Given the description of an element on the screen output the (x, y) to click on. 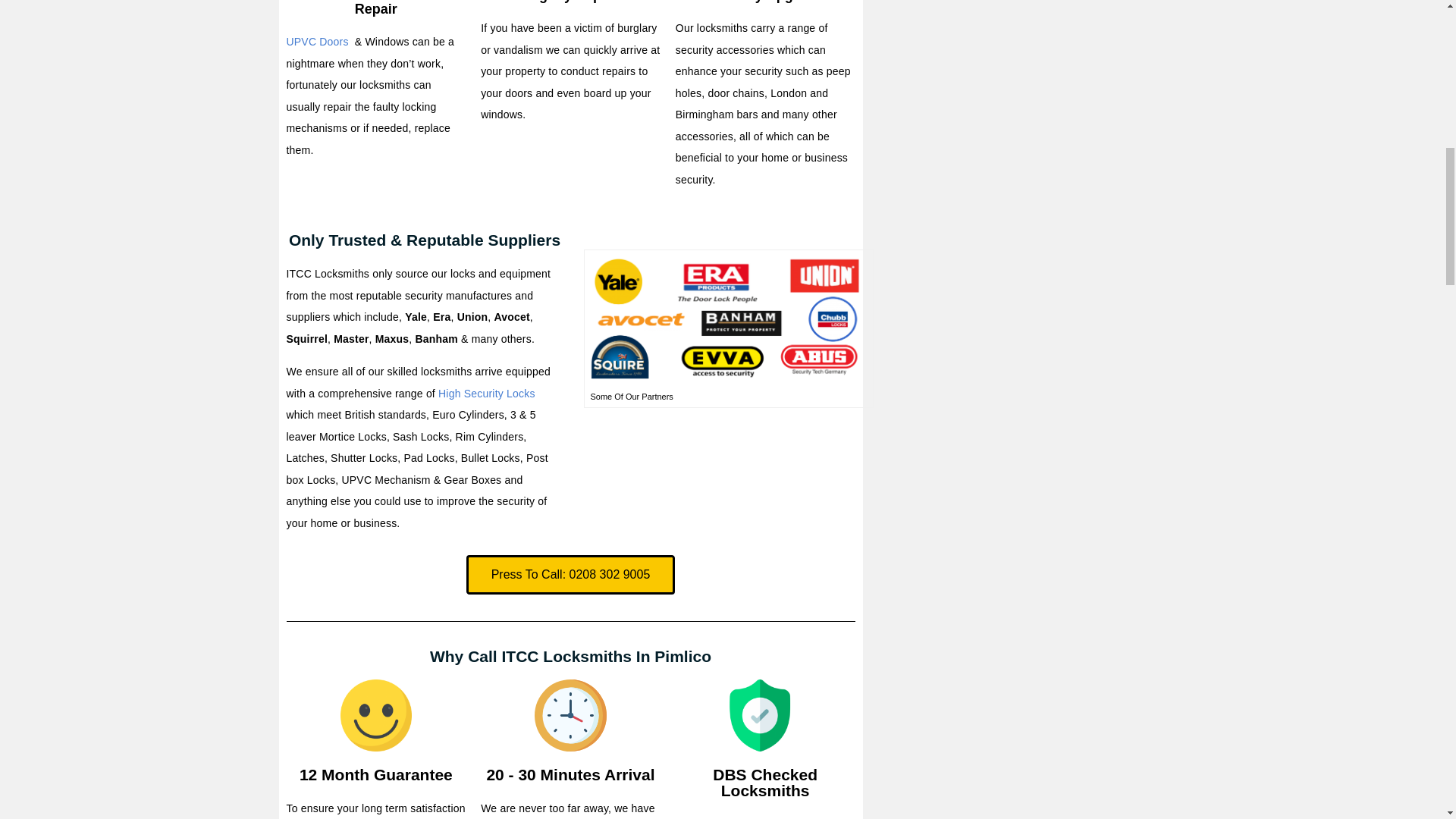
Press To Call: 0208 302 9005 (570, 574)
High Security Locks (486, 393)
UPVC Doors (317, 41)
